Given the description of an element on the screen output the (x, y) to click on. 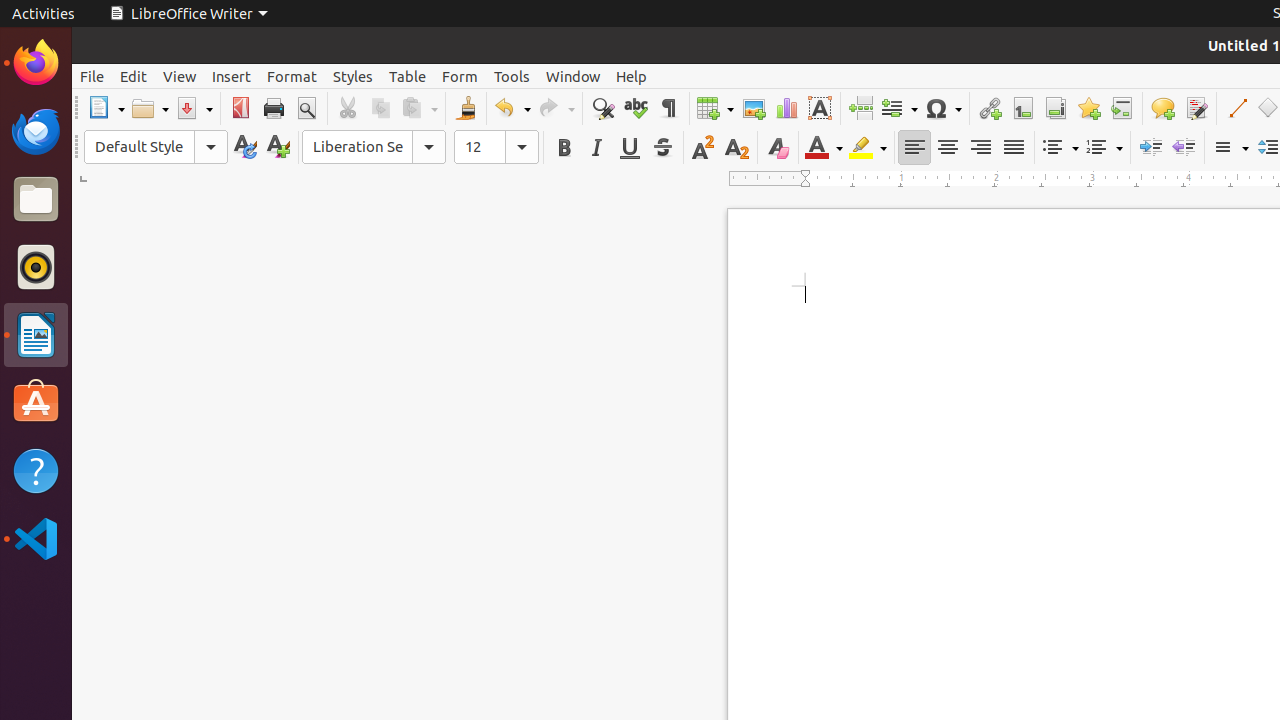
Text Box Element type: push-button (819, 108)
Right Element type: toggle-button (980, 147)
Superscript Element type: toggle-button (703, 147)
Highlight Color Element type: push-button (868, 147)
Copy Element type: push-button (380, 108)
